Given the description of an element on the screen output the (x, y) to click on. 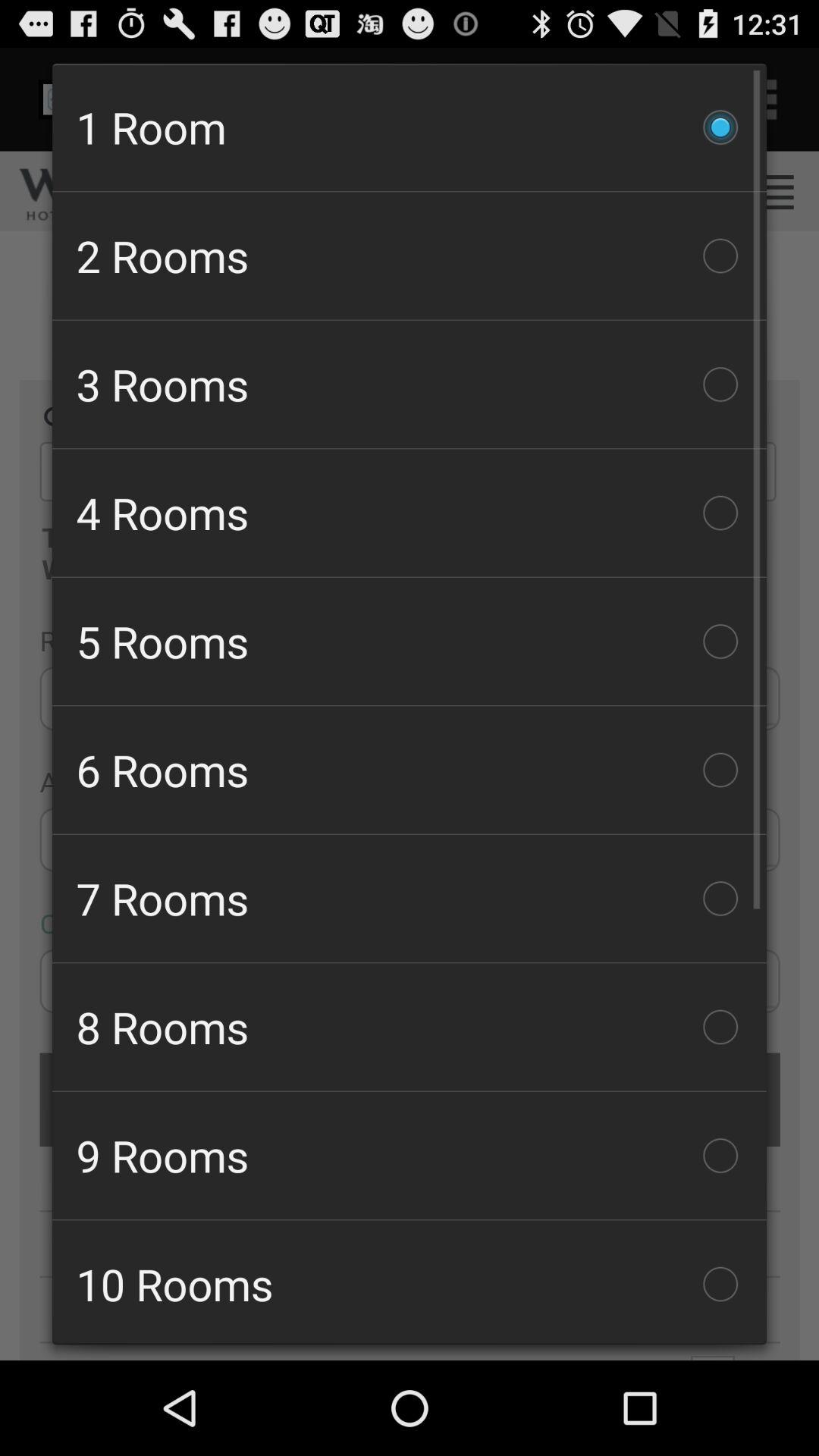
choose the 9 rooms item (409, 1155)
